Given the description of an element on the screen output the (x, y) to click on. 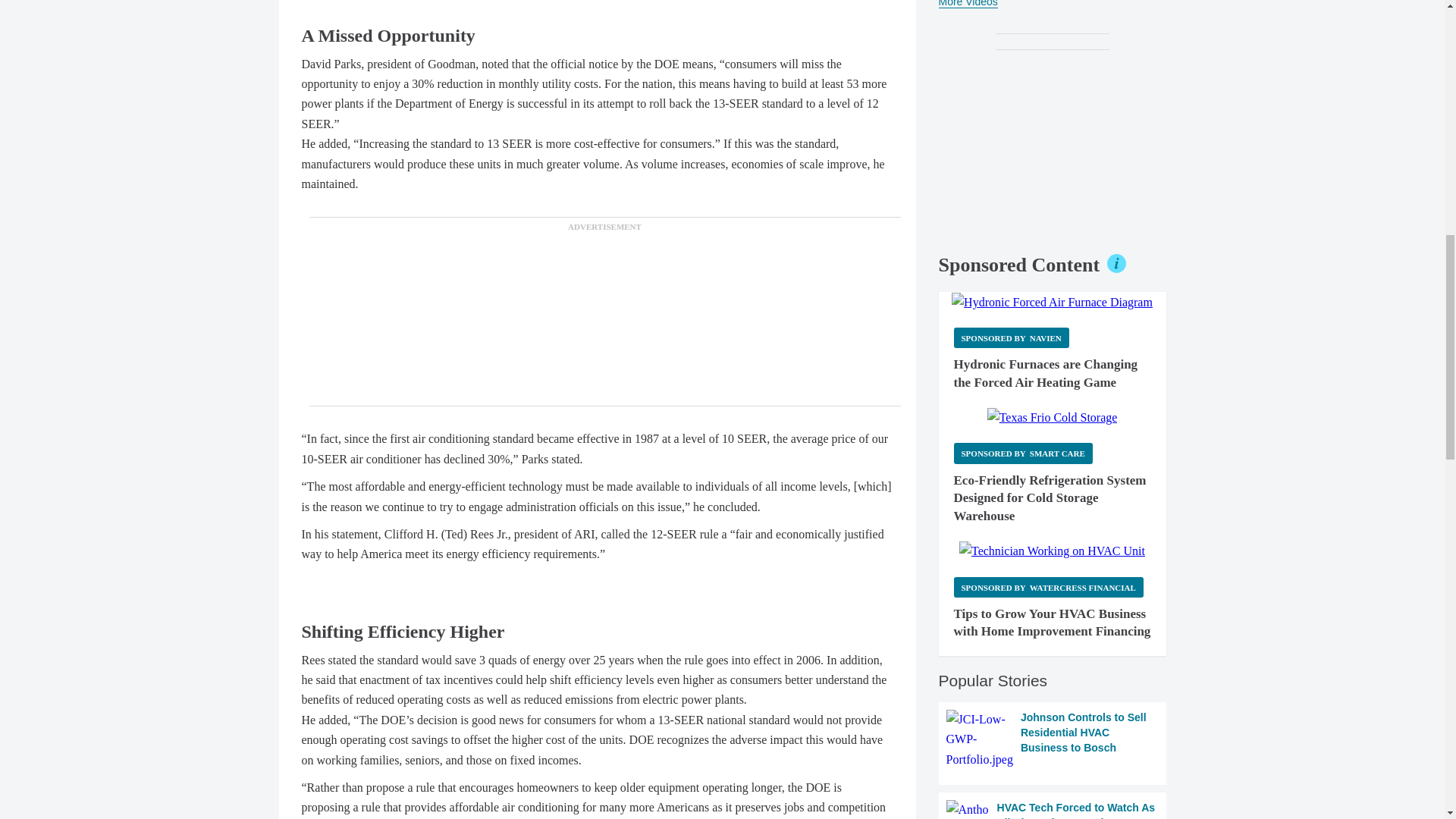
Johnson Controls to Sell Residential HVAC Business to Bosch (1052, 739)
Sponsored by Navien (1010, 337)
HVAC Tech Forced to Watch As All His Tools Are Stolen (1052, 809)
Sponsored by Watercress Financial (1047, 586)
Sponsored by Smart Care (1023, 453)
Technician Working on HVAC Unit (1051, 551)
Hydronic Forced Air Furnace Diagram (1052, 302)
Texas Frio Cold Storage (1052, 417)
